Given the description of an element on the screen output the (x, y) to click on. 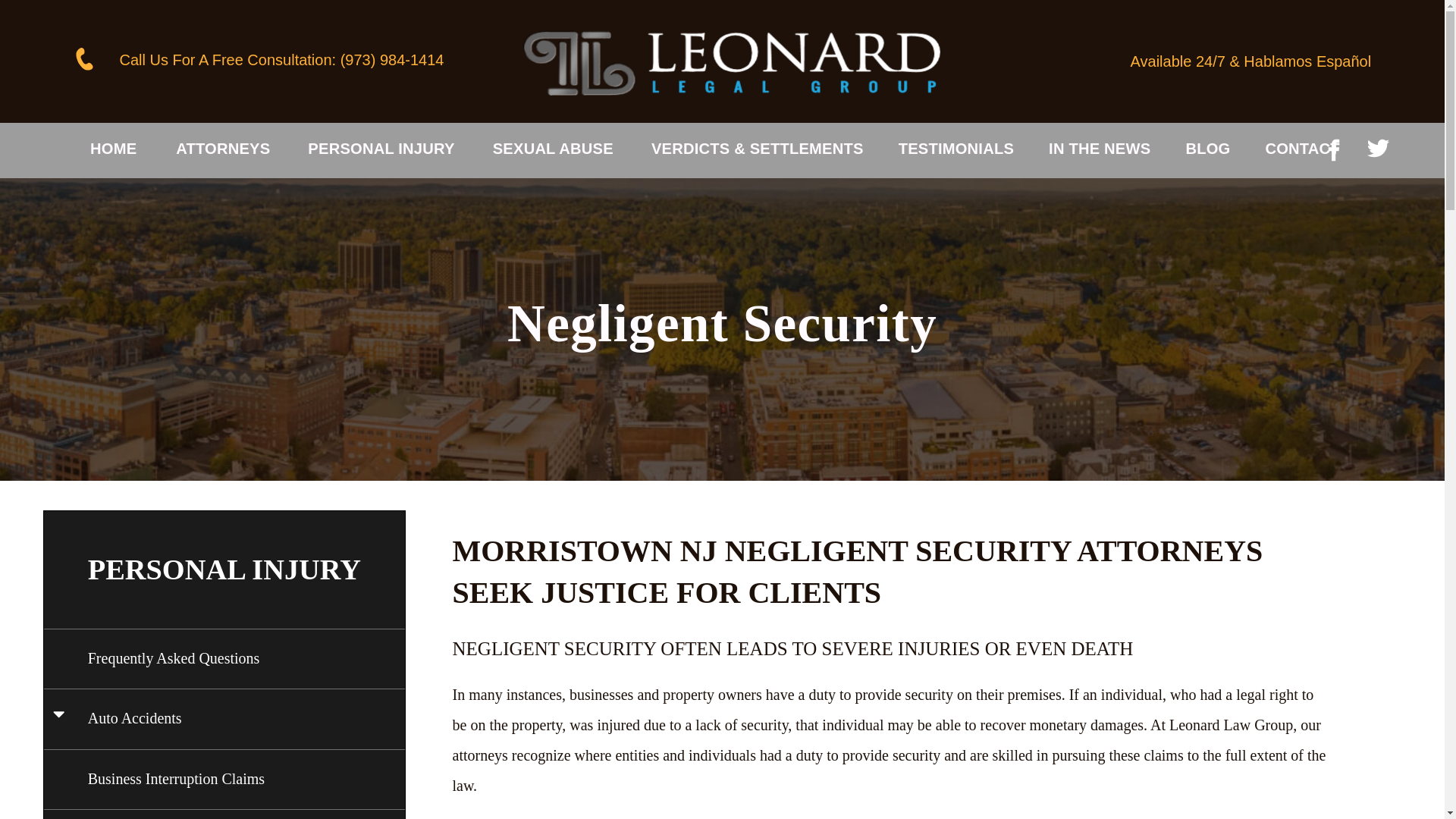
SEXUAL ABUSE (553, 148)
TESTIMONIALS (955, 148)
HOME (115, 148)
ATTORNEYS (222, 148)
BLOG (1207, 148)
IN THE NEWS (1098, 148)
PERSONAL INJURY (380, 148)
CONTACT (1301, 148)
